Given the description of an element on the screen output the (x, y) to click on. 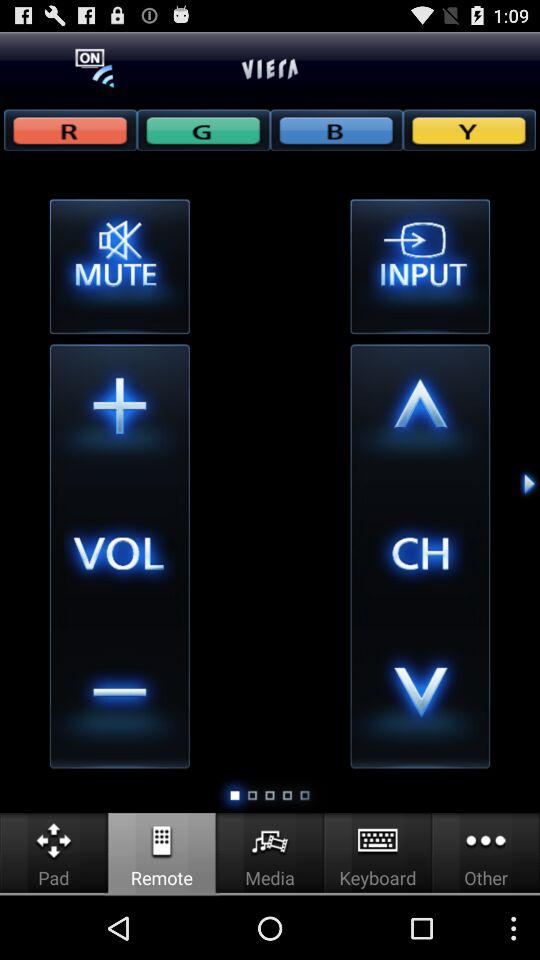
change input (420, 266)
